Given the description of an element on the screen output the (x, y) to click on. 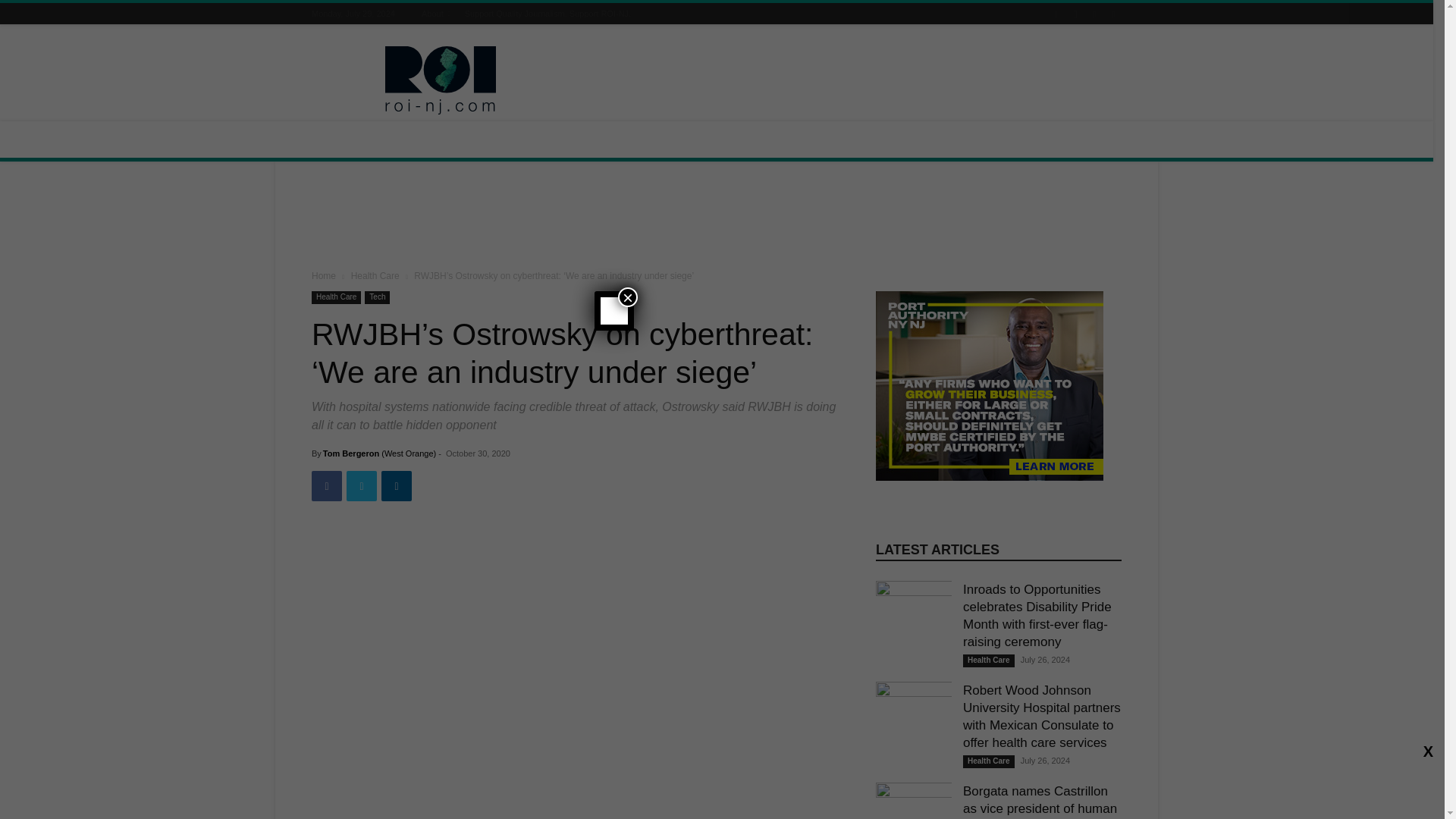
Twitter (361, 485)
3rd party ad content (845, 79)
View all posts in Health Care (374, 276)
Linkedin (396, 485)
3rd party ad content (716, 218)
Facebook (326, 485)
